Given the description of an element on the screen output the (x, y) to click on. 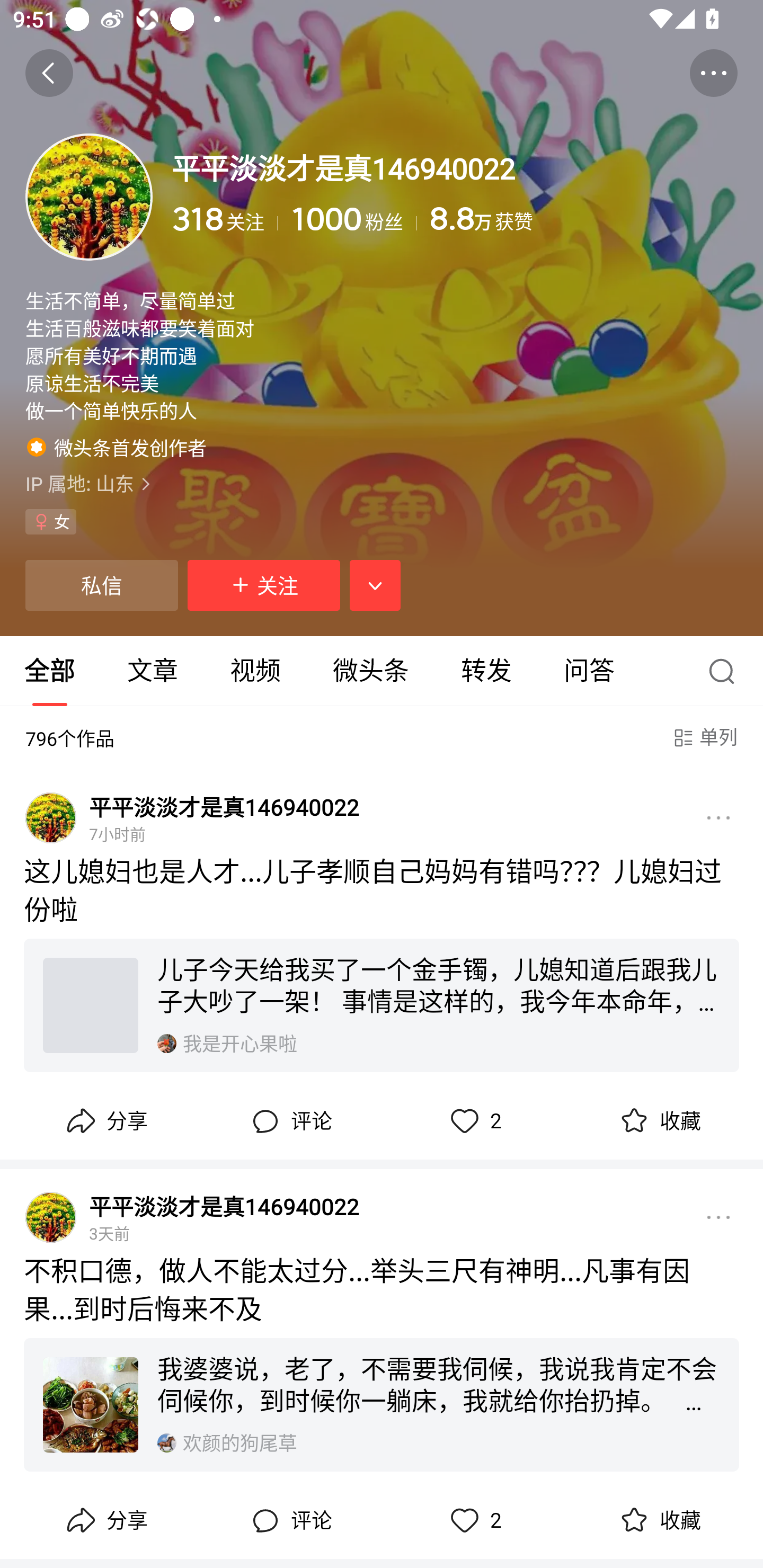
返回 (49, 72)
更多操作 (713, 72)
头像 (88, 196)
318 关注 (224, 219)
1000 粉丝 (353, 219)
8.8万 获赞 (583, 219)
微头条首发创作者 (116, 446)
IP 属地: 山东 (381, 483)
性别女 女 (50, 521)
私信 (101, 585)
     关注 (263, 585)
展开相关推荐，按钮 (374, 585)
全部 (50, 670)
文章 (152, 670)
视频 (254, 670)
微头条 (370, 670)
转发 (485, 670)
问答 (588, 670)
搜索 (726, 670)
单列 当前单列点按切换至双列 (703, 737)
平平淡淡才是真146940022 (224, 806)
平平淡淡才是真146940022头像 (50, 817)
更多 (718, 817)
分享 (104, 1121)
评论, 评论 (288, 1121)
,收藏 收藏 (658, 1121)
平平淡淡才是真146940022 (224, 1206)
平平淡淡才是真146940022头像 (50, 1217)
更多 (718, 1217)
分享 (104, 1520)
评论, 评论 (288, 1520)
,收藏 收藏 (658, 1520)
